Given the description of an element on the screen output the (x, y) to click on. 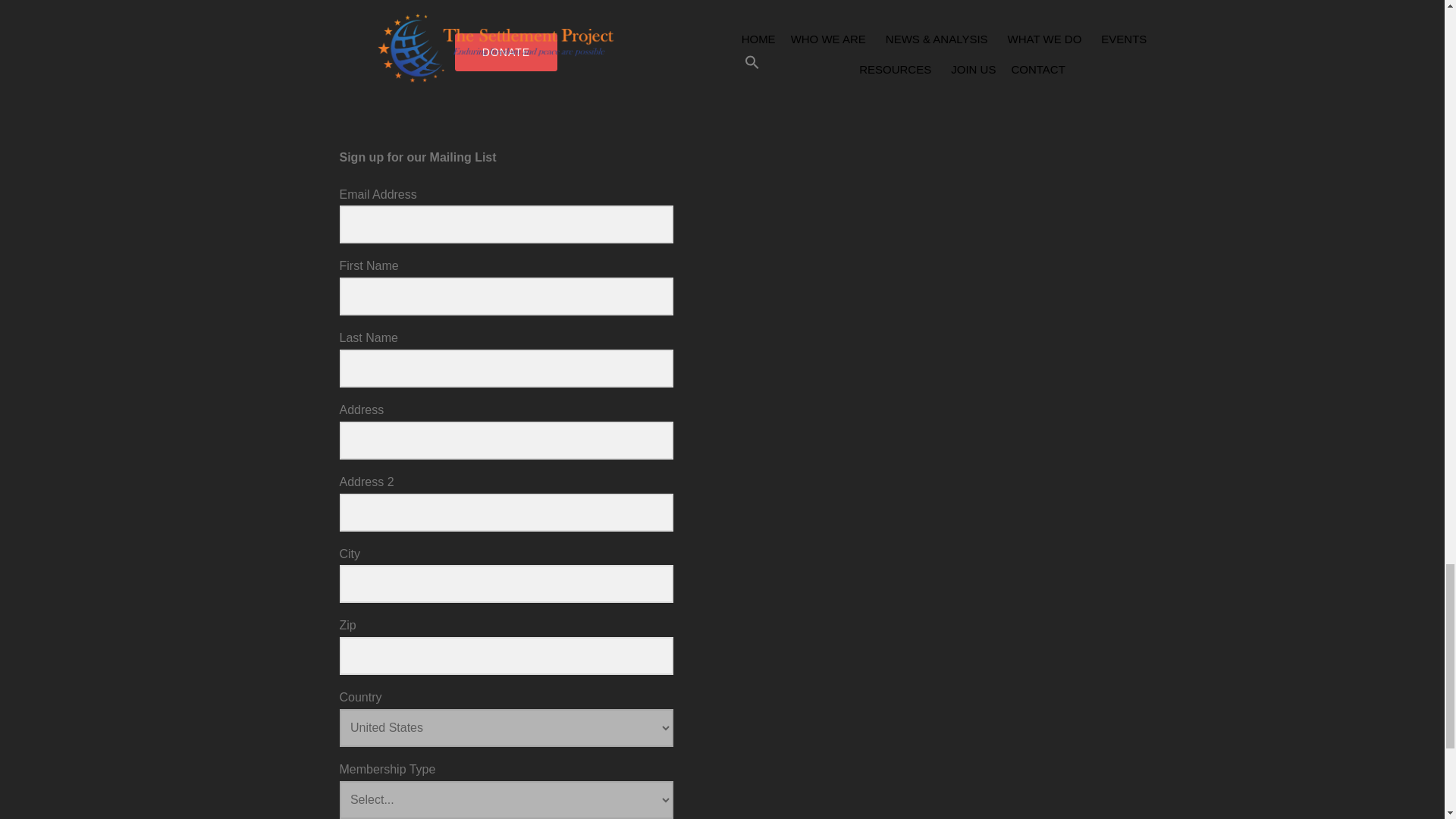
5 digit zip code, numbers only (505, 655)
